Given the description of an element on the screen output the (x, y) to click on. 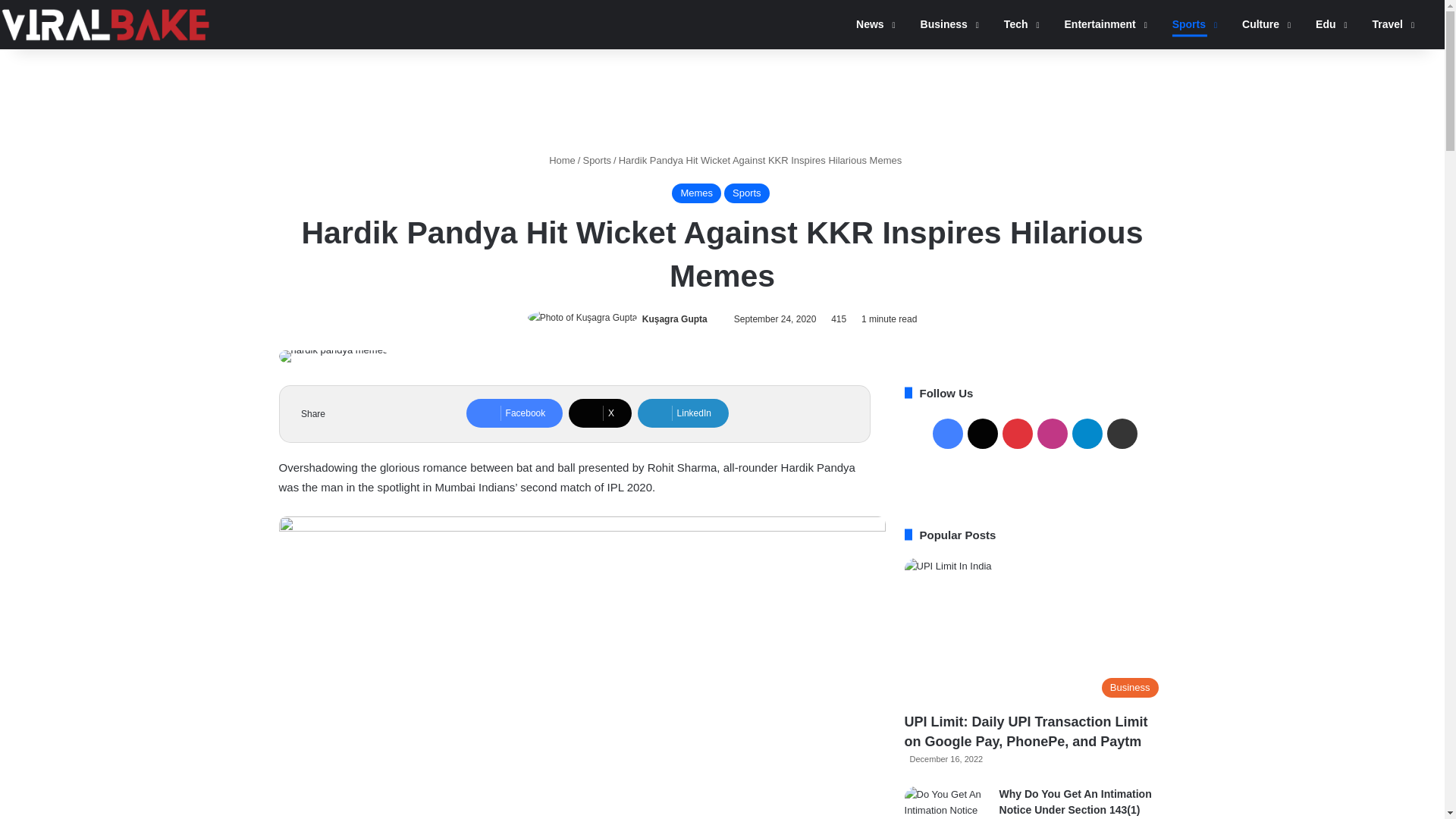
Entertainment (1100, 24)
Sports (1189, 24)
LinkedIn (683, 412)
Business (944, 24)
Culture (1261, 24)
News (870, 24)
Facebook (514, 412)
Travel (1388, 24)
Viral Bake (104, 24)
X (600, 412)
Edu (1326, 24)
Tech (1016, 24)
